Given the description of an element on the screen output the (x, y) to click on. 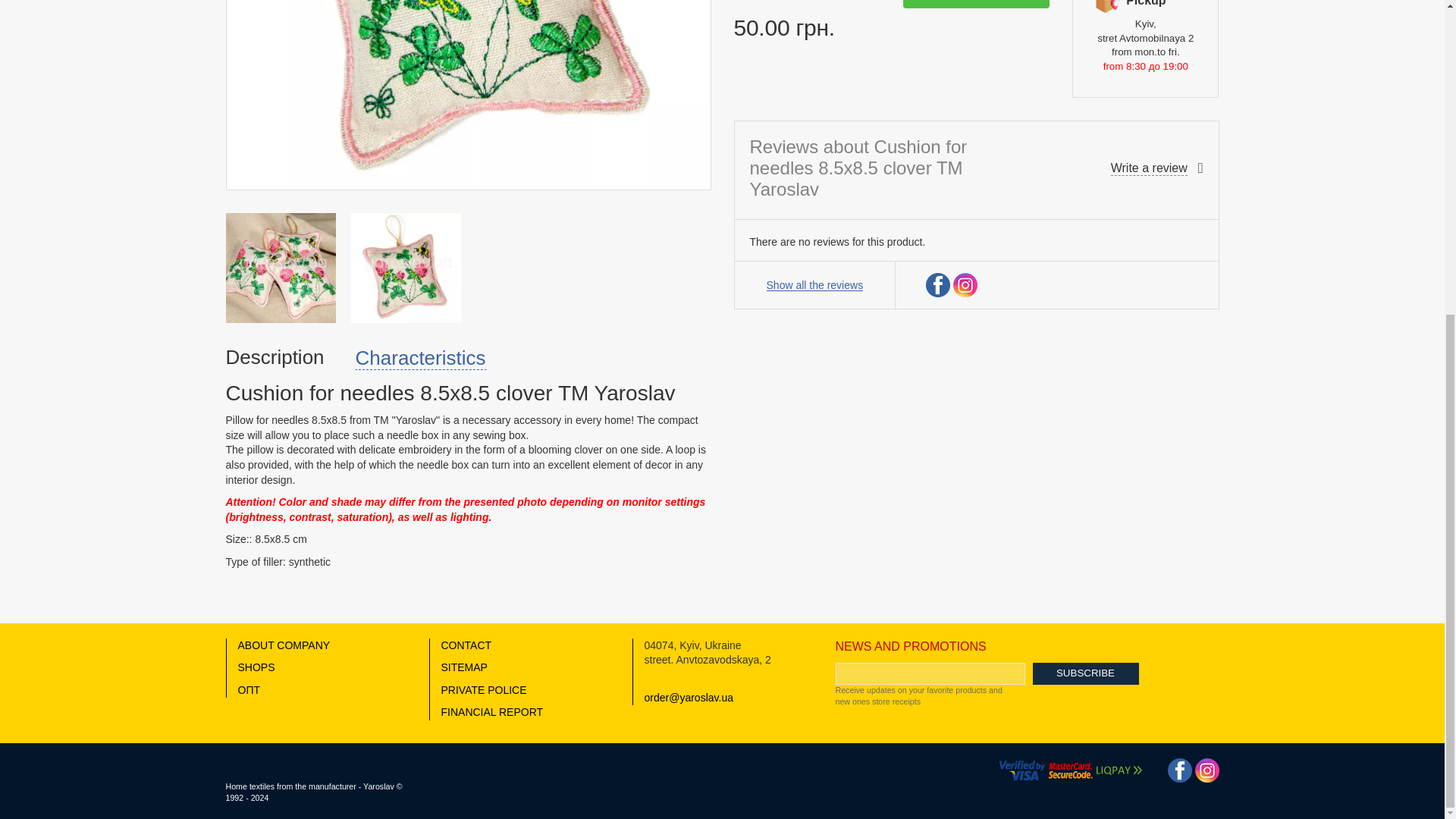
1 (783, 2)
Subscribe (1085, 673)
Cushion for needles 8.5x8.5 clover TM Yaroslav (467, 94)
Cushion for needles 8.5x8.5 clover TM Yaroslav (280, 267)
Cushion for needles 8.5x8.5 clover TM Yaroslav (405, 267)
